Given the description of an element on the screen output the (x, y) to click on. 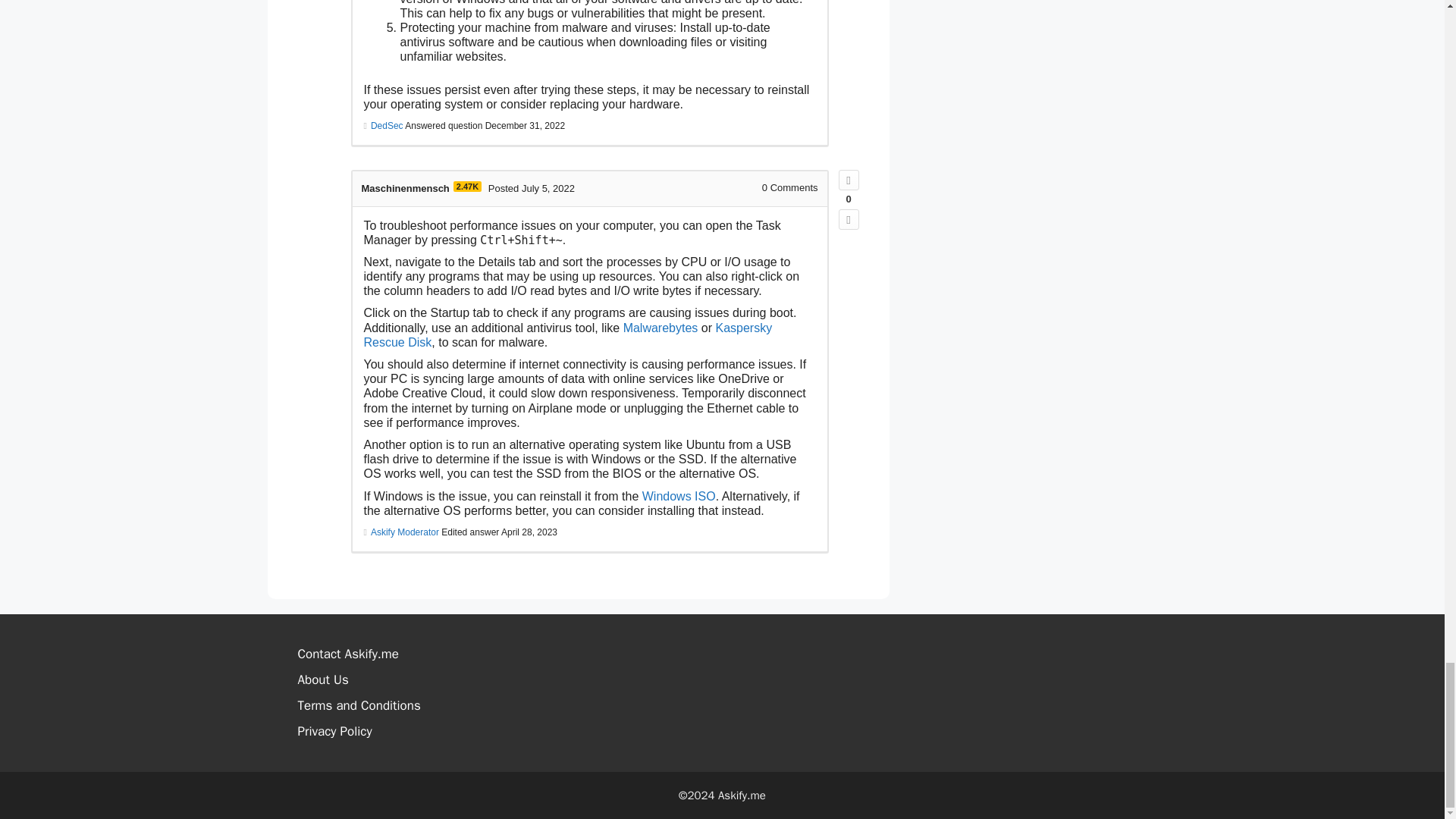
Maschinenmensch (404, 188)
DedSec (387, 125)
Malwarebytes (660, 327)
Askify Moderator (405, 532)
2.47K (466, 185)
Windows ISO (679, 495)
Kaspersky Rescue Disk (568, 334)
